Given the description of an element on the screen output the (x, y) to click on. 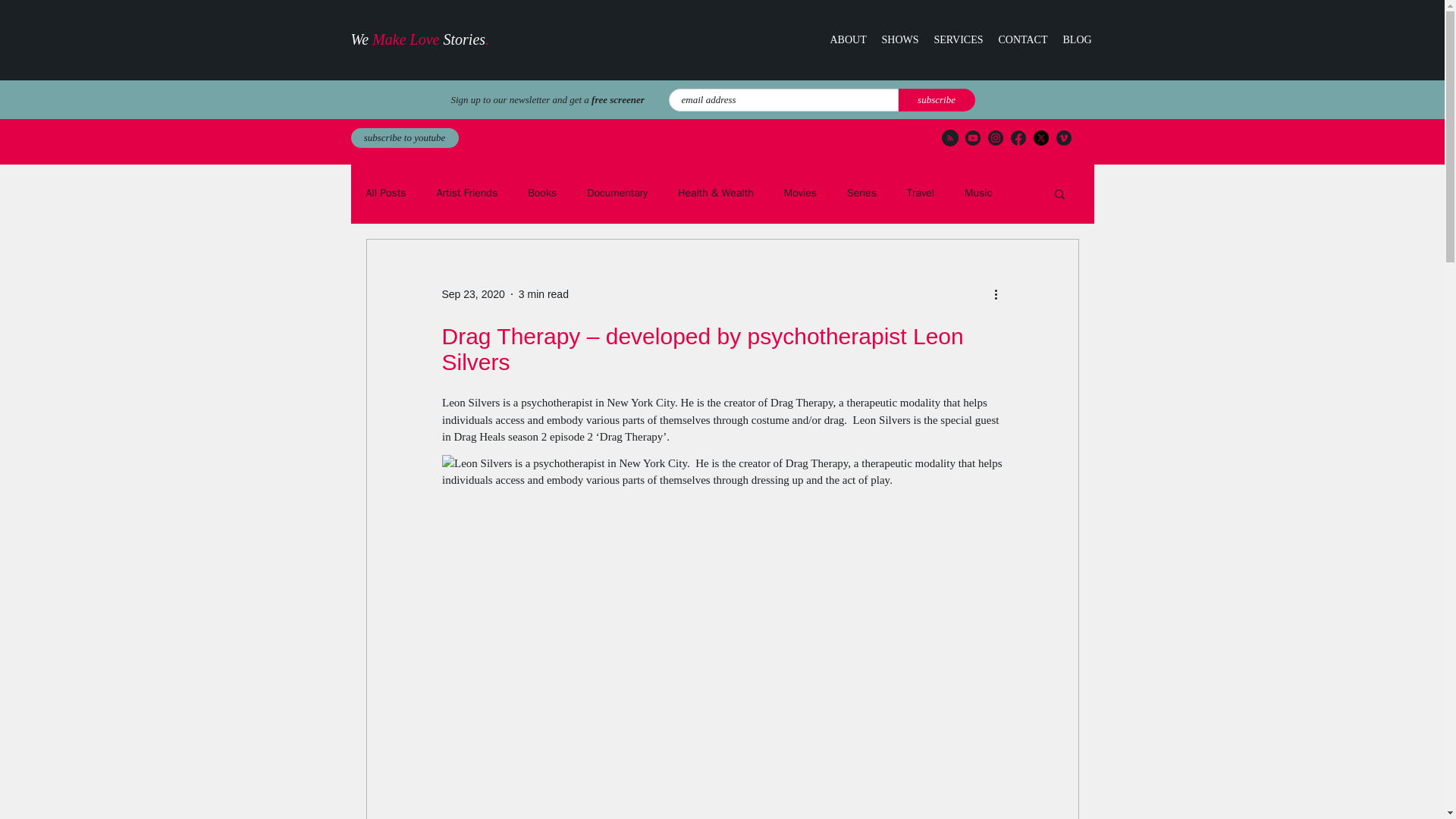
Books (541, 192)
subscribe to youtube (404, 137)
BLOG (1077, 39)
Documentary (616, 192)
SERVICES (958, 39)
Artist Friends (466, 192)
Sep 23, 2020 (472, 294)
subscribe (936, 99)
3 min read (543, 294)
All Posts (385, 192)
CONTACT (1022, 39)
SHOWS (899, 39)
ABOUT (847, 39)
